Given the description of an element on the screen output the (x, y) to click on. 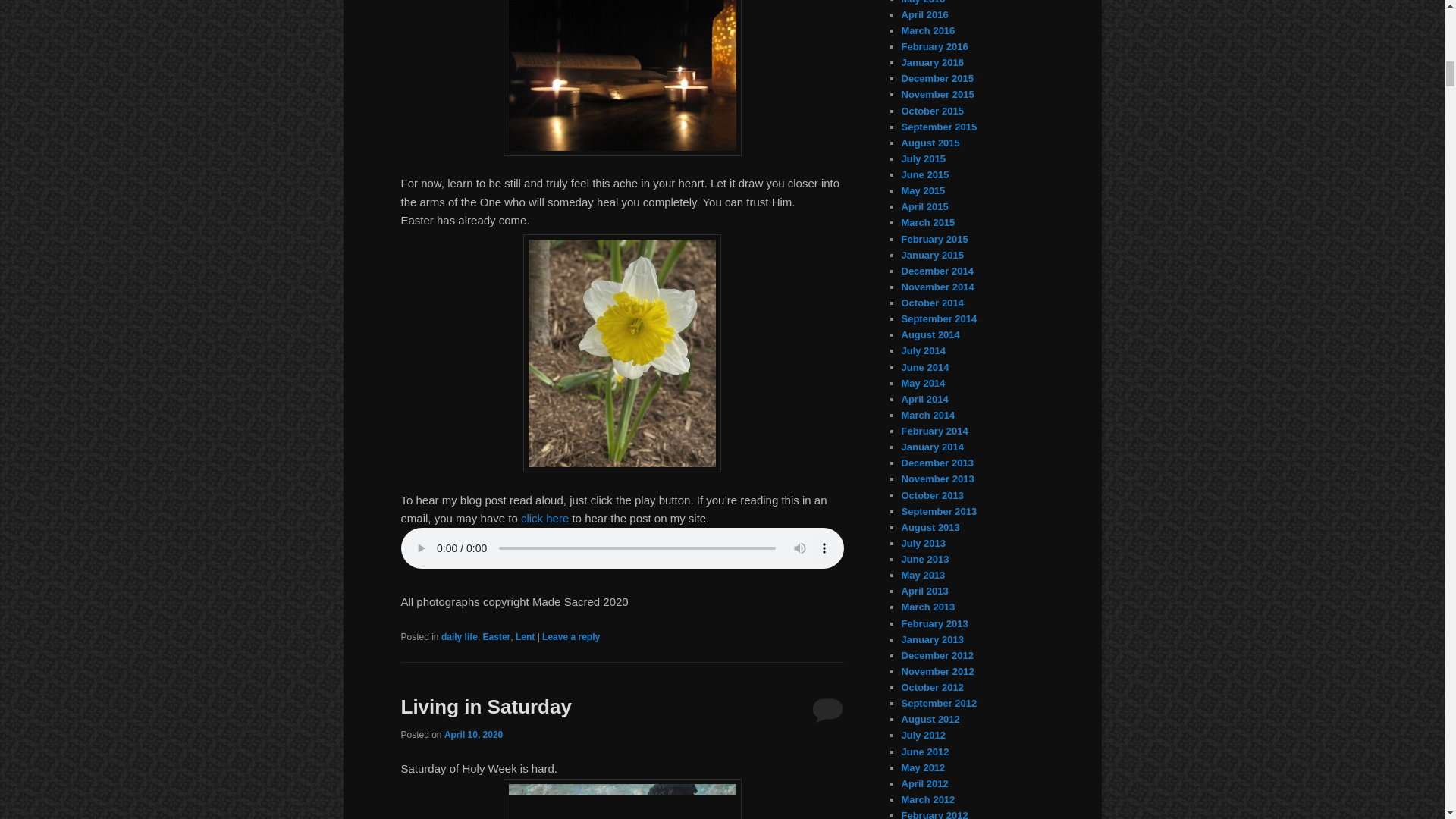
click here (545, 517)
Easter (497, 636)
Lent (524, 636)
April 10, 2020 (473, 734)
9:30 am (473, 734)
Leave a reply (570, 636)
Living in Saturday (485, 706)
daily life (459, 636)
